Given the description of an element on the screen output the (x, y) to click on. 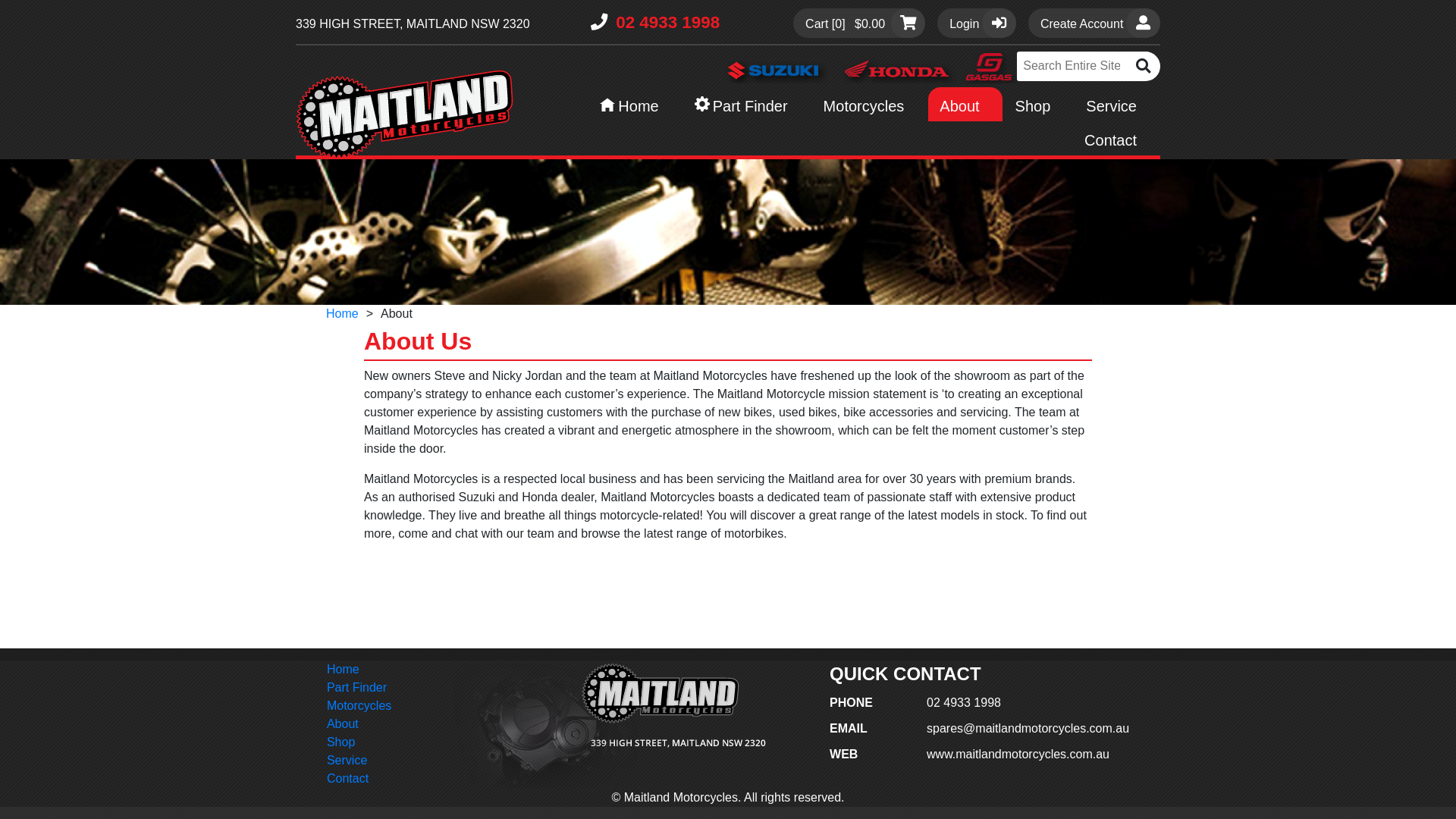
Cart 0 0.00 Element type: text (859, 22)
Part Finder Element type: text (358, 687)
Service Element type: text (1116, 104)
Login Element type: text (976, 22)
About Element type: text (964, 104)
Shop Element type: text (1038, 104)
Shop Element type: text (358, 742)
Motorcycles Element type: text (869, 104)
About Element type: text (358, 724)
Contact Element type: text (358, 778)
Part Finder Element type: text (746, 104)
Motorcycles Element type: text (358, 705)
Contact Element type: text (1116, 138)
02 4933 1998 Element type: text (654, 22)
Home Element type: text (358, 669)
Home Element type: text (634, 104)
Create Account Element type: text (1094, 22)
Service Element type: text (358, 760)
Home Element type: text (342, 313)
